Given the description of an element on the screen output the (x, y) to click on. 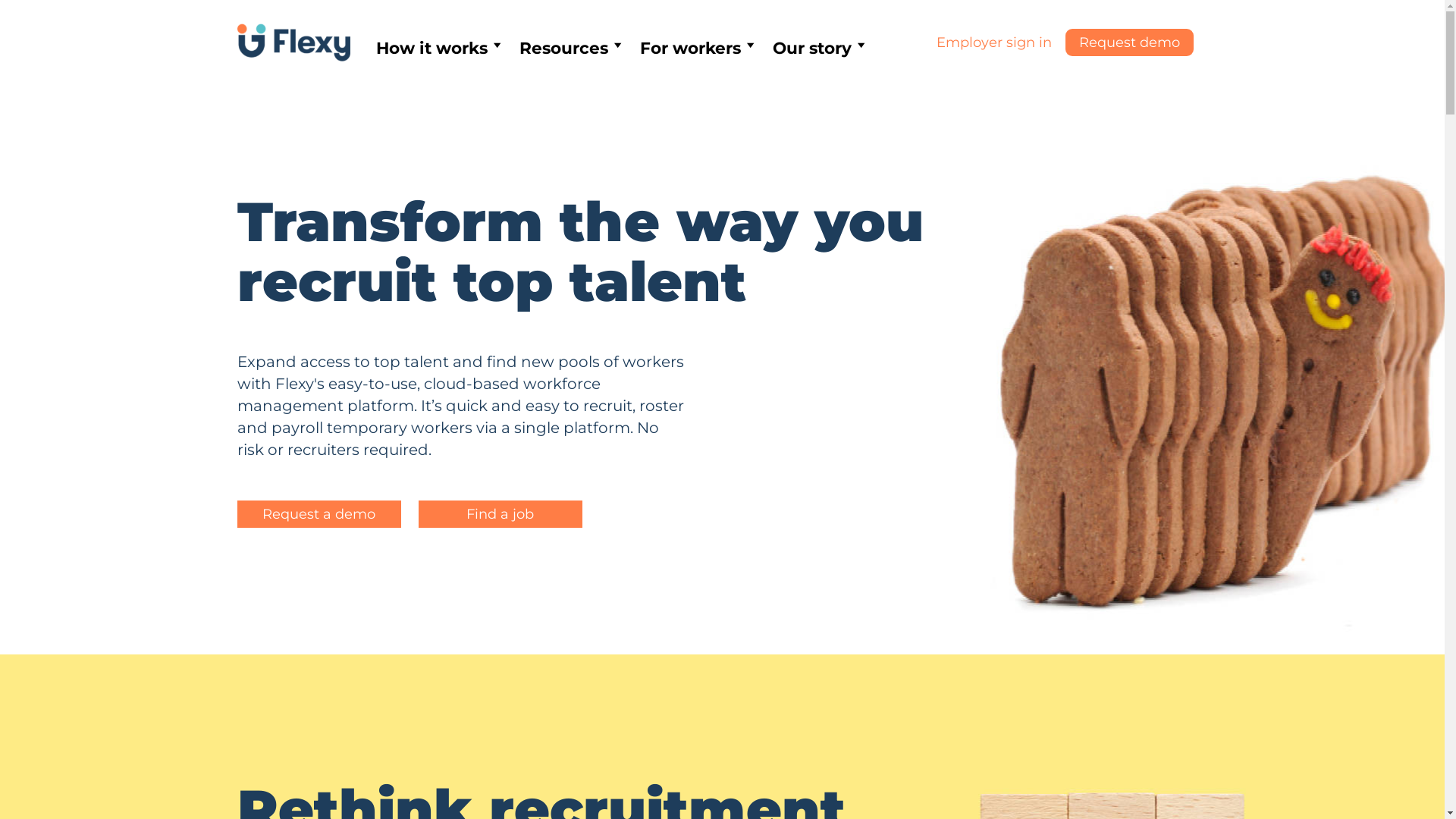
For workers Element type: text (694, 47)
Resources Element type: text (568, 47)
Request demo Element type: text (1129, 42)
Request a demo Element type: text (318, 513)
Our story Element type: text (816, 47)
How it works Element type: text (435, 47)
Find a job Element type: text (500, 513)
Employer sign in Element type: text (993, 42)
